Given the description of an element on the screen output the (x, y) to click on. 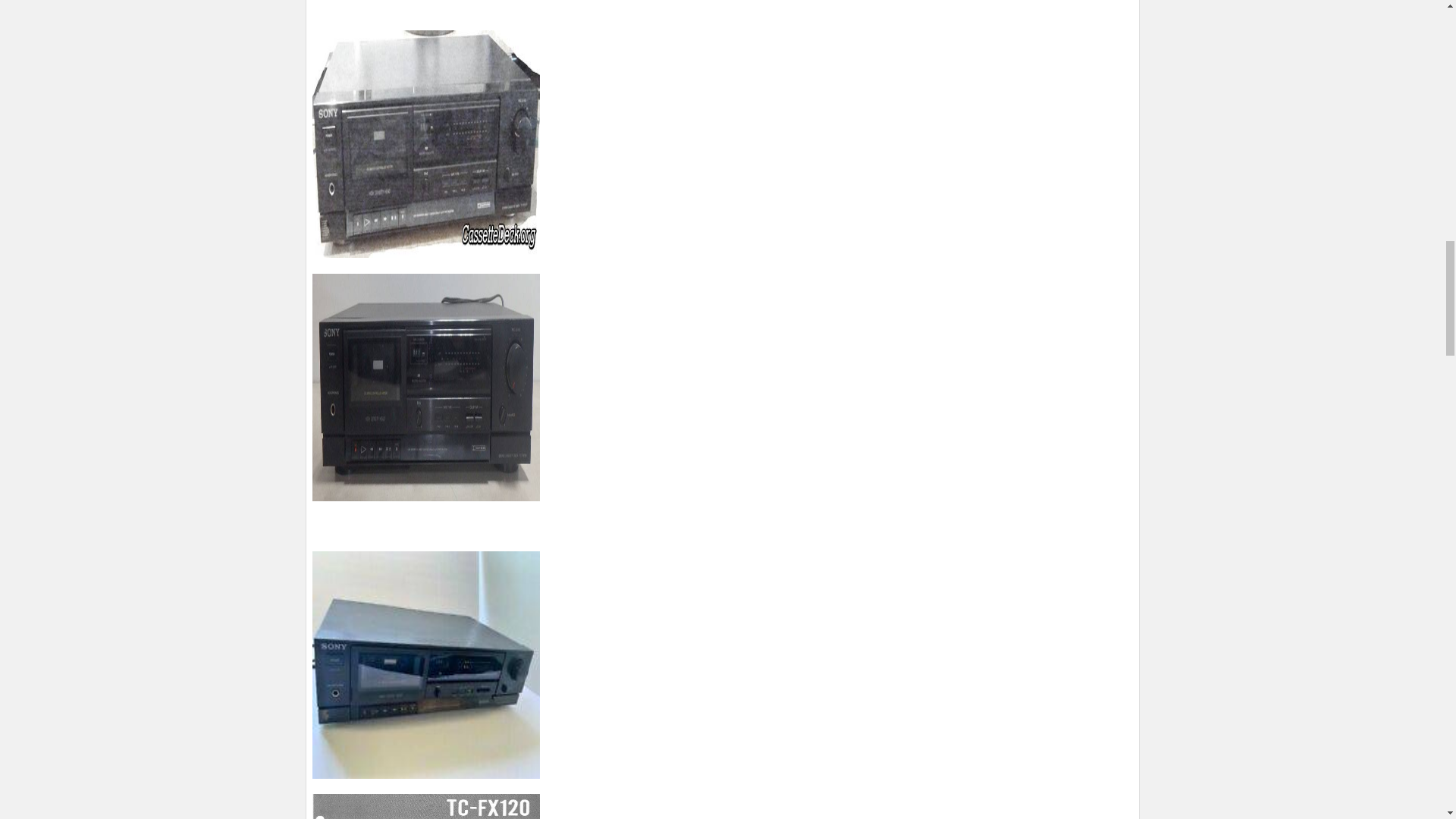
Sony TC-FX120 (426, 387)
Sony TC-FX120 (426, 143)
Sony TC-FX120 (426, 664)
Sony TC-FX120 (426, 806)
